Given the description of an element on the screen output the (x, y) to click on. 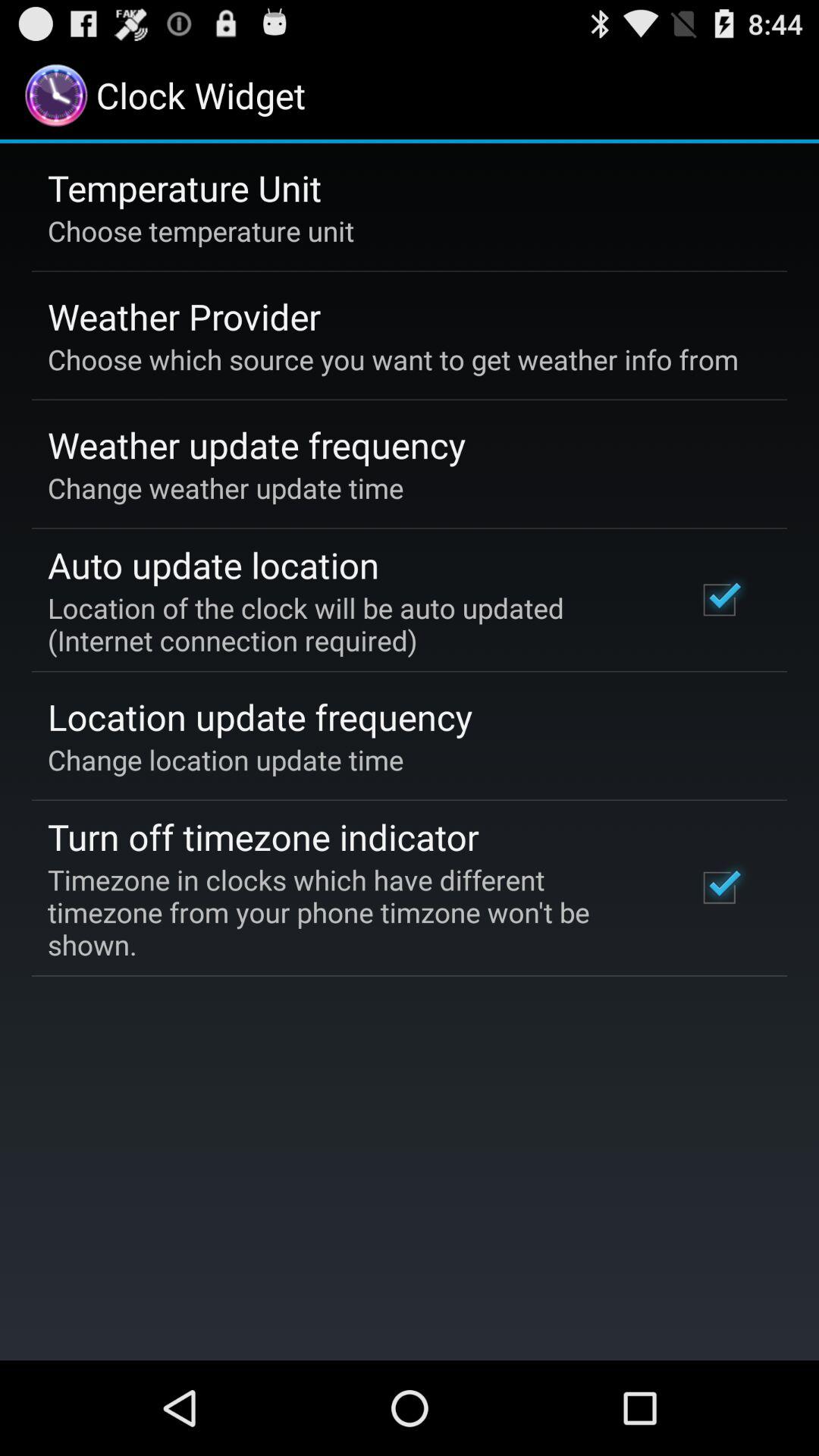
select the icon below the change location update (262, 836)
